Given the description of an element on the screen output the (x, y) to click on. 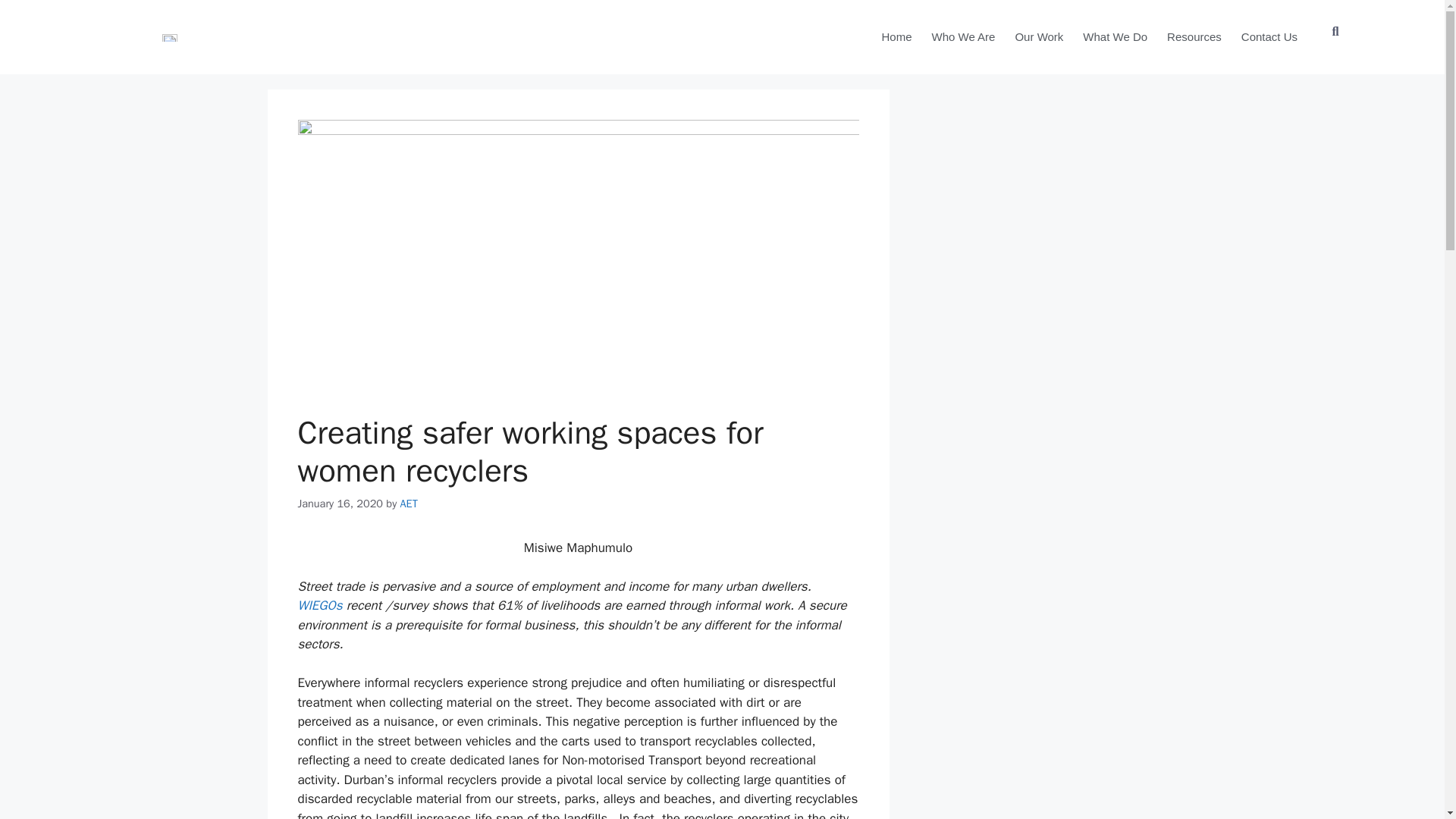
Resources (1194, 37)
View all posts by AET (408, 503)
Who We Are (963, 37)
What We Do (1115, 37)
Our Work (1038, 37)
